Given the description of an element on the screen output the (x, y) to click on. 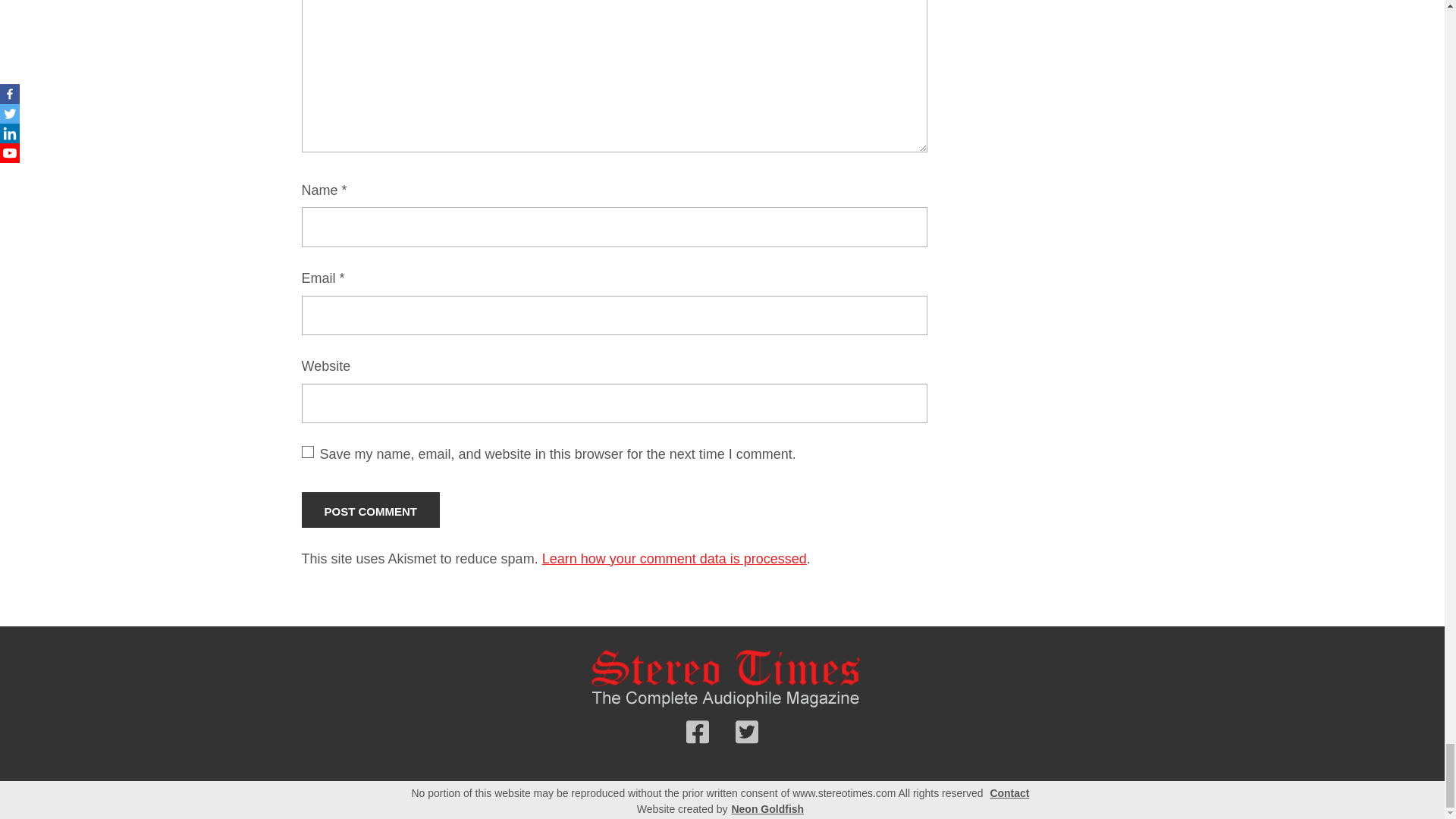
Post Comment (371, 509)
Post Comment (371, 509)
Learn how your comment data is processed (673, 558)
